Given the description of an element on the screen output the (x, y) to click on. 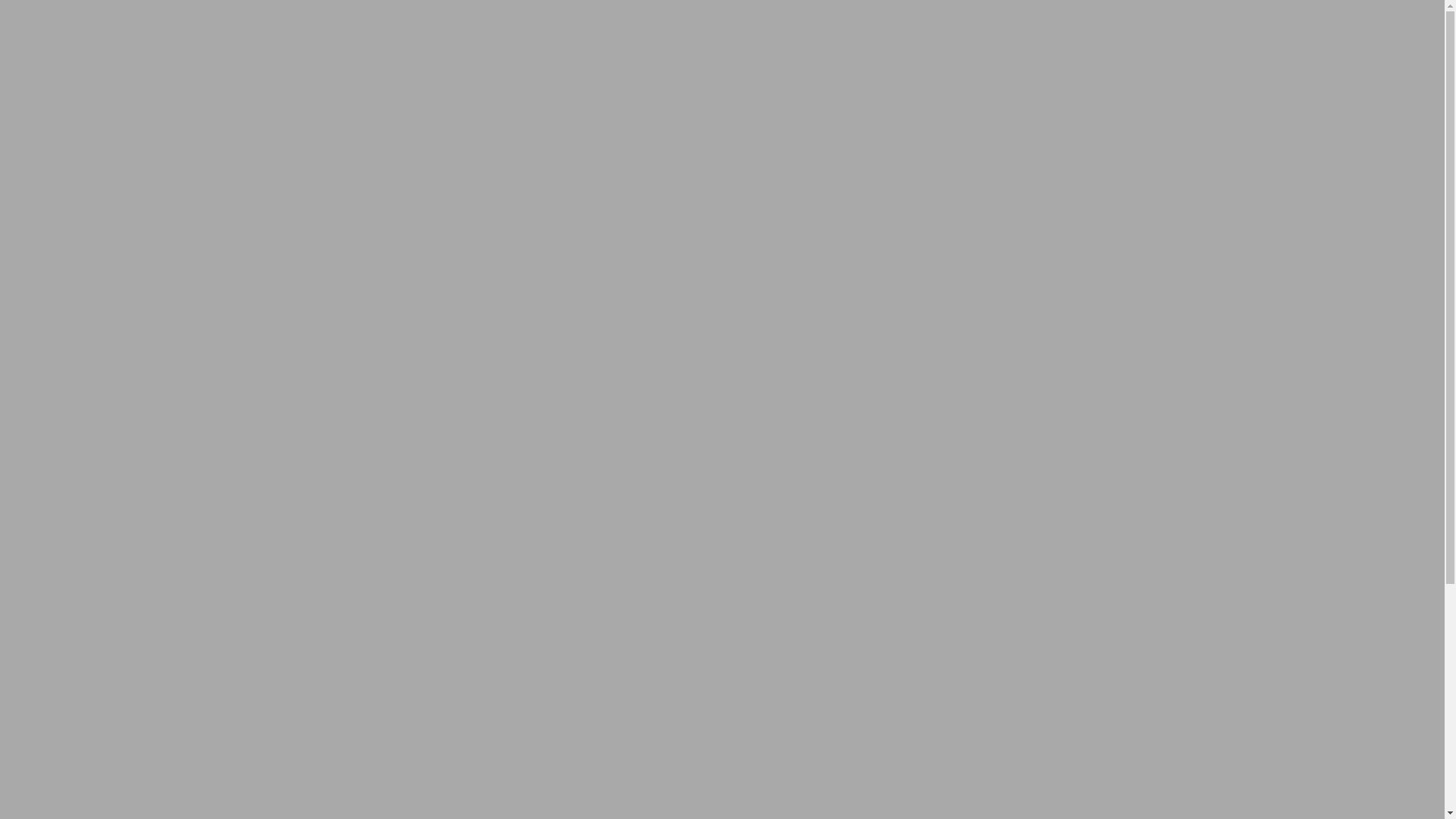
Dorf-Advent, 26./27.11.2022 Element type: text (131, 702)
Tour 3, 26./27.08.2023 Element type: text (115, 633)
Inserenten Element type: text (55, 716)
Kontakt Element type: text (49, 758)
Aktuell Element type: text (48, 423)
Vorstand Element type: text (81, 451)
Jahresprogramm Element type: text (100, 493)
Touren Element type: text (47, 548)
Verein Element type: text (46, 437)
Mutation/Neumitglied Element type: text (84, 744)
Galerie Element type: text (47, 577)
Agenda Element type: text (49, 535)
Schneeschuhwanderung, 21.01.2023 Element type: text (149, 688)
Statuten Element type: text (80, 479)
Tour 5, 22.10.2023 Element type: text (106, 590)
Links Element type: text (43, 730)
Ehrenmitglieder Element type: text (99, 521)
Vereinszweck Element type: text (94, 465)
Tour 4, 24./25.09.2023 Element type: text (115, 618)
Alpenfreunde Pilatus Hergiswil Element type: text (466, 383)
Tour 2, 02./03.07.2023 Element type: text (115, 660)
Tour 1, 06.05.2023 Element type: text (106, 674)
